Given the description of an element on the screen output the (x, y) to click on. 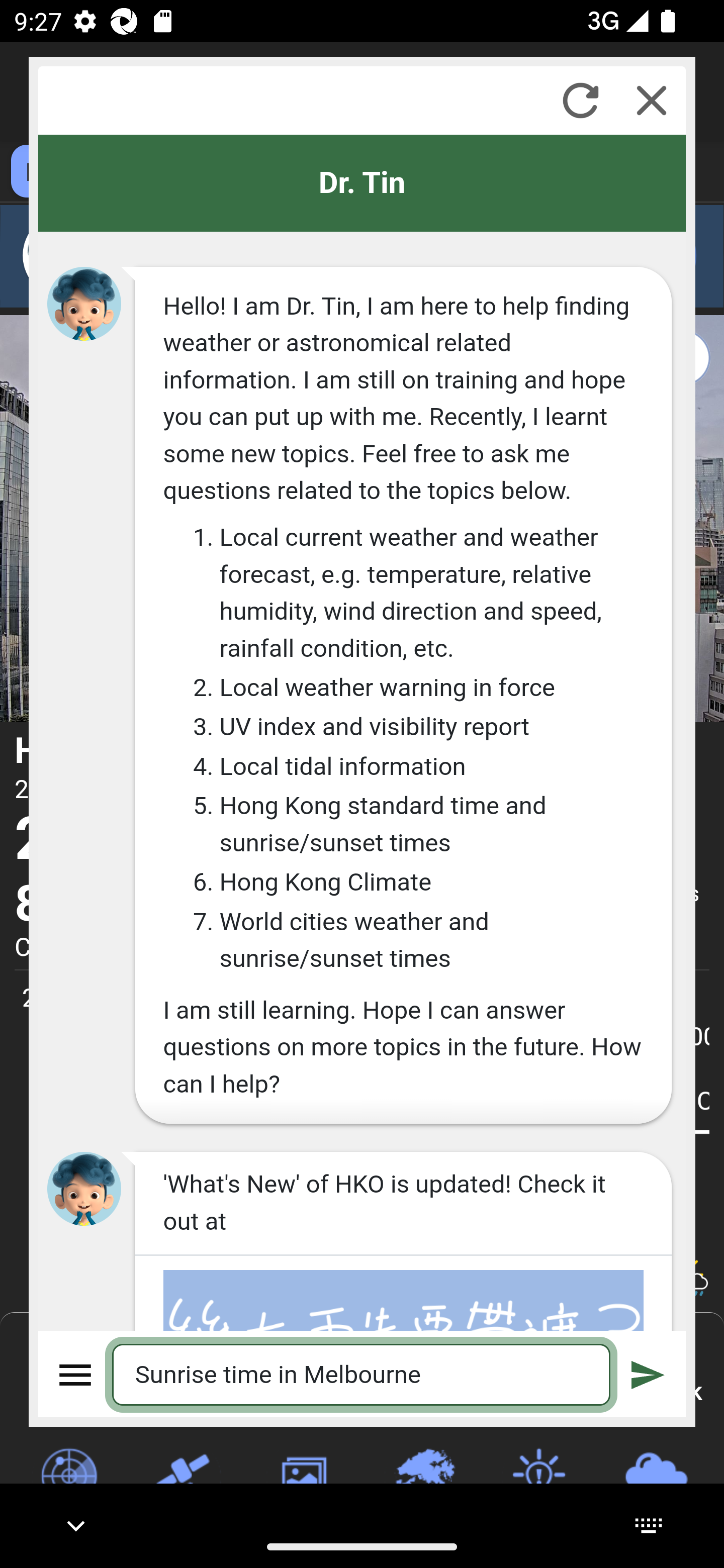
Refresh (580, 100)
Close (651, 100)
Menu (75, 1374)
Submit (648, 1374)
Sunrise time in Melbourne (361, 1374)
